Given the description of an element on the screen output the (x, y) to click on. 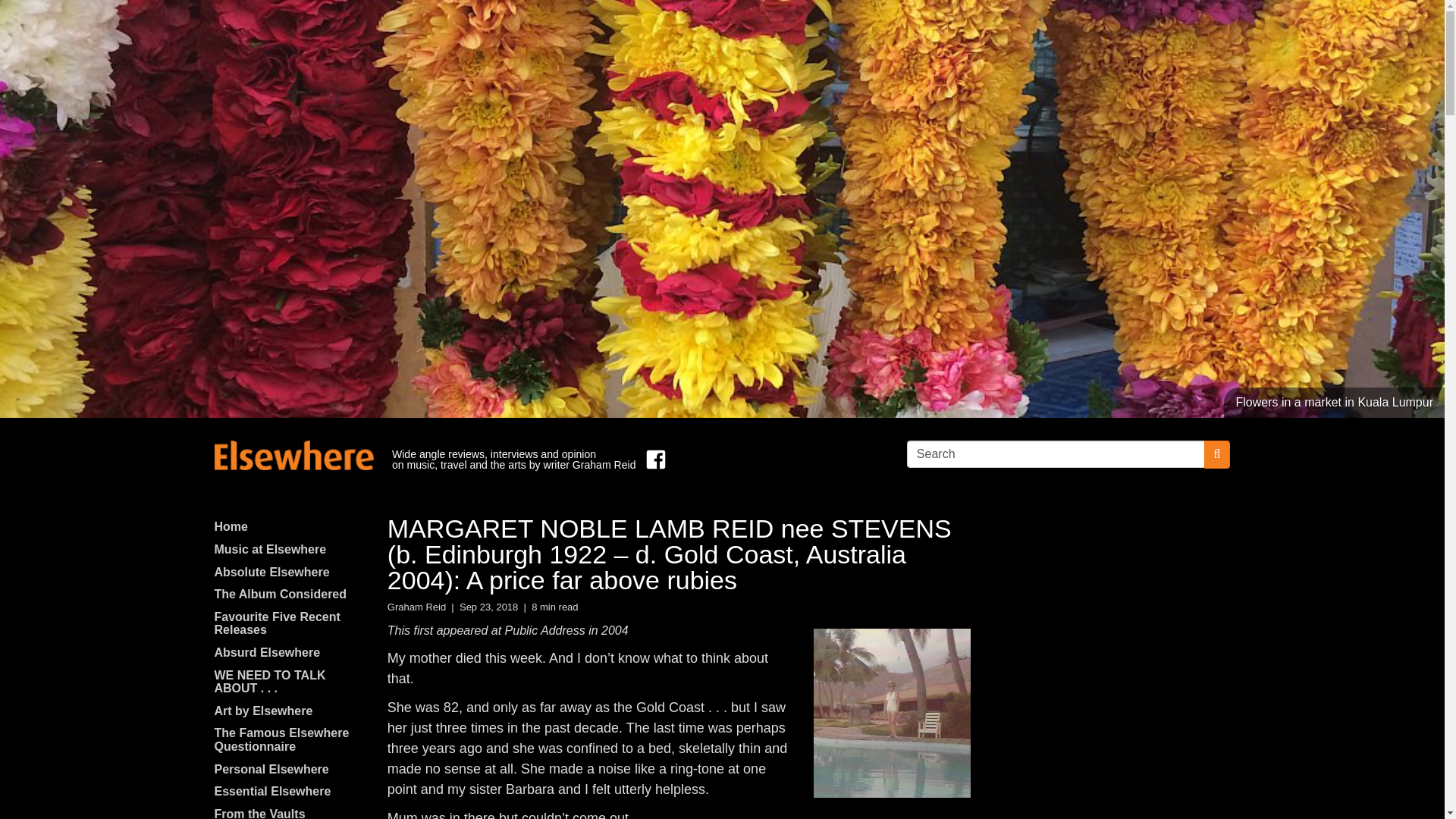
Find us on Facebook (652, 459)
Search (1056, 453)
Elsewhere by Graham Reid (293, 455)
Search (1056, 453)
